Given the description of an element on the screen output the (x, y) to click on. 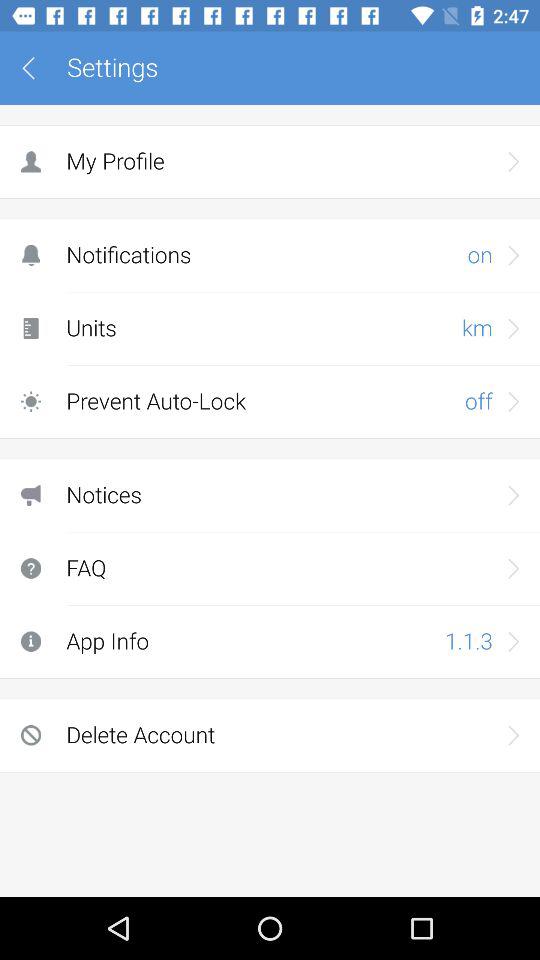
go back (35, 67)
